Given the description of an element on the screen output the (x, y) to click on. 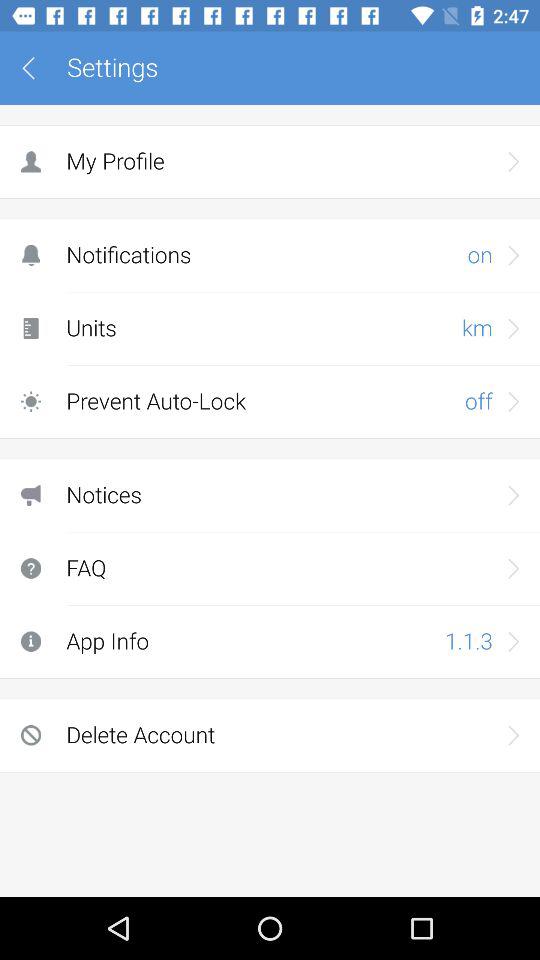
go back (35, 67)
